Given the description of an element on the screen output the (x, y) to click on. 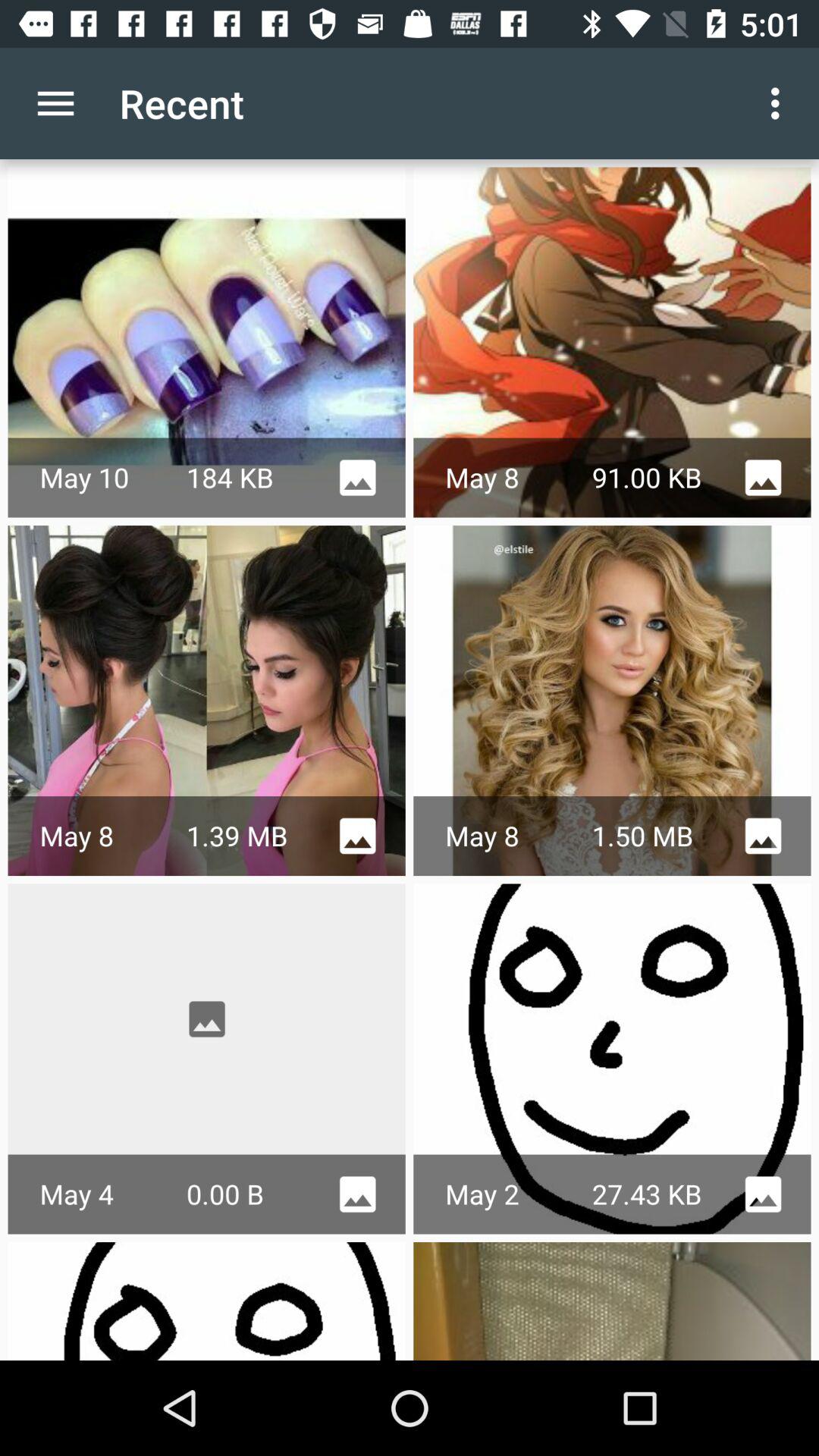
click icon to the left of recent icon (55, 103)
